Given the description of an element on the screen output the (x, y) to click on. 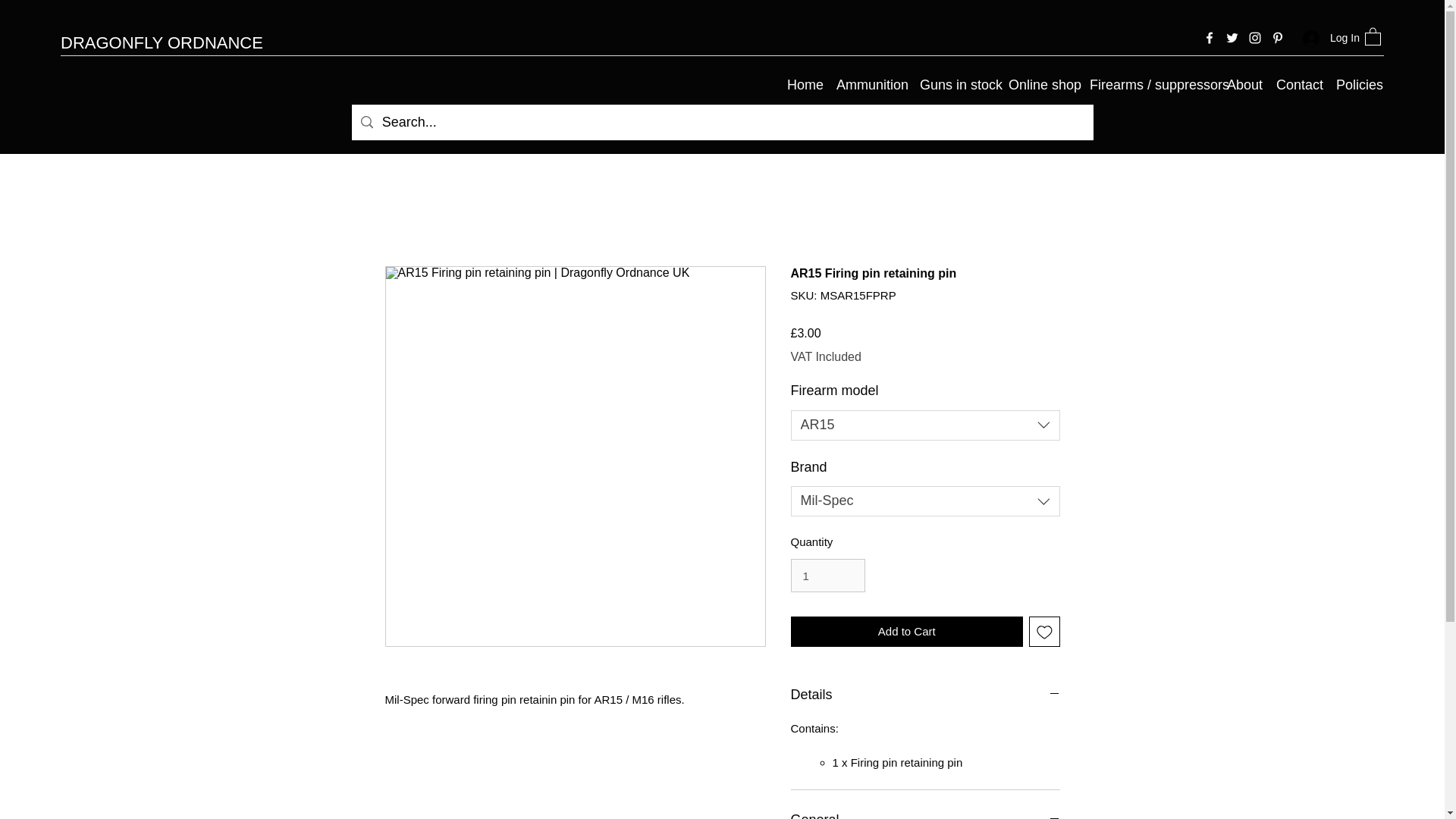
Details (924, 695)
Online shop (1041, 84)
DRAGONFLY ORDNANCE (162, 42)
About (1244, 84)
1 (827, 575)
Ammunition (870, 84)
Log In (1325, 38)
Home (803, 84)
AR15 (924, 425)
Mil-Spec (924, 501)
